Given the description of an element on the screen output the (x, y) to click on. 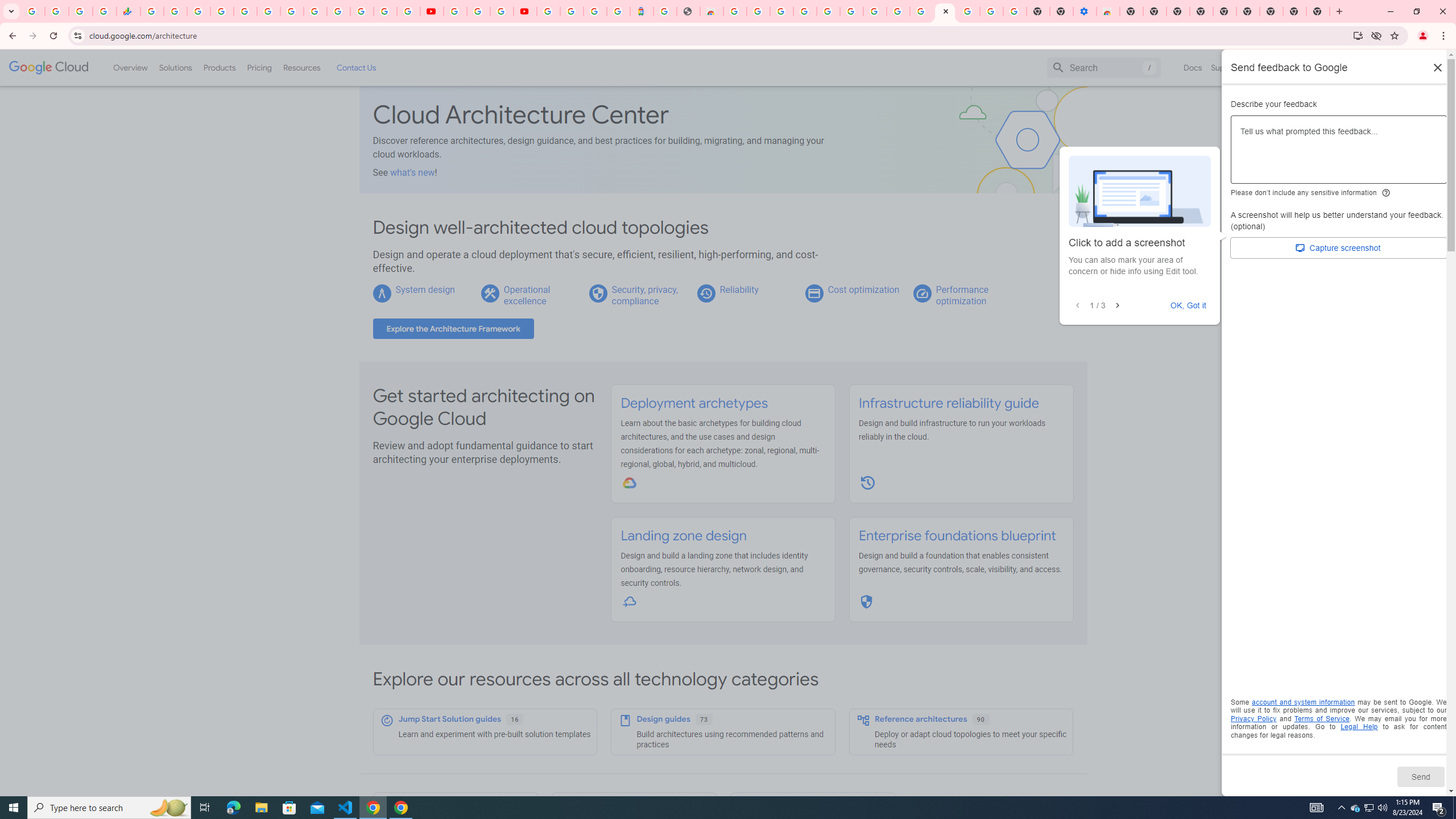
Start free (1405, 67)
Capture screenshot (1338, 247)
Opens in a new tab. Terms of Service (1321, 718)
Android TV Policies and Guidelines - Transparency Center (291, 11)
New Tab (1131, 11)
Security, privacy, compliance (644, 295)
Chrome Web Store - Household (711, 11)
Deployment archetypes (694, 402)
